Given the description of an element on the screen output the (x, y) to click on. 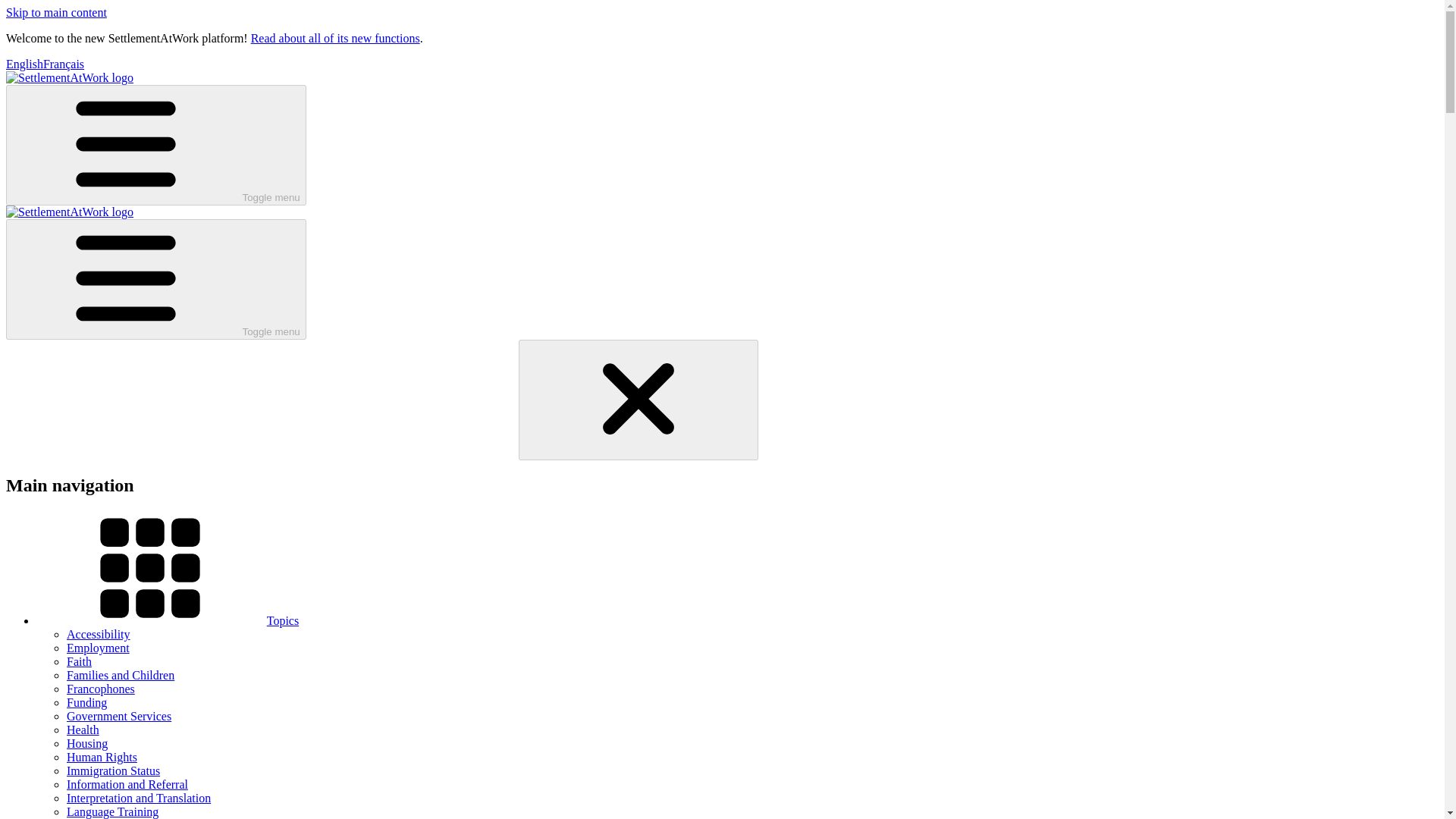
Government Services (118, 716)
English (24, 63)
Interpretation and Translation (138, 797)
Skip to main content (55, 11)
Health (82, 729)
Home (69, 77)
Families and Children (120, 675)
Toggle menu (155, 145)
Human Rights (101, 757)
Information and Referral (126, 784)
